Given the description of an element on the screen output the (x, y) to click on. 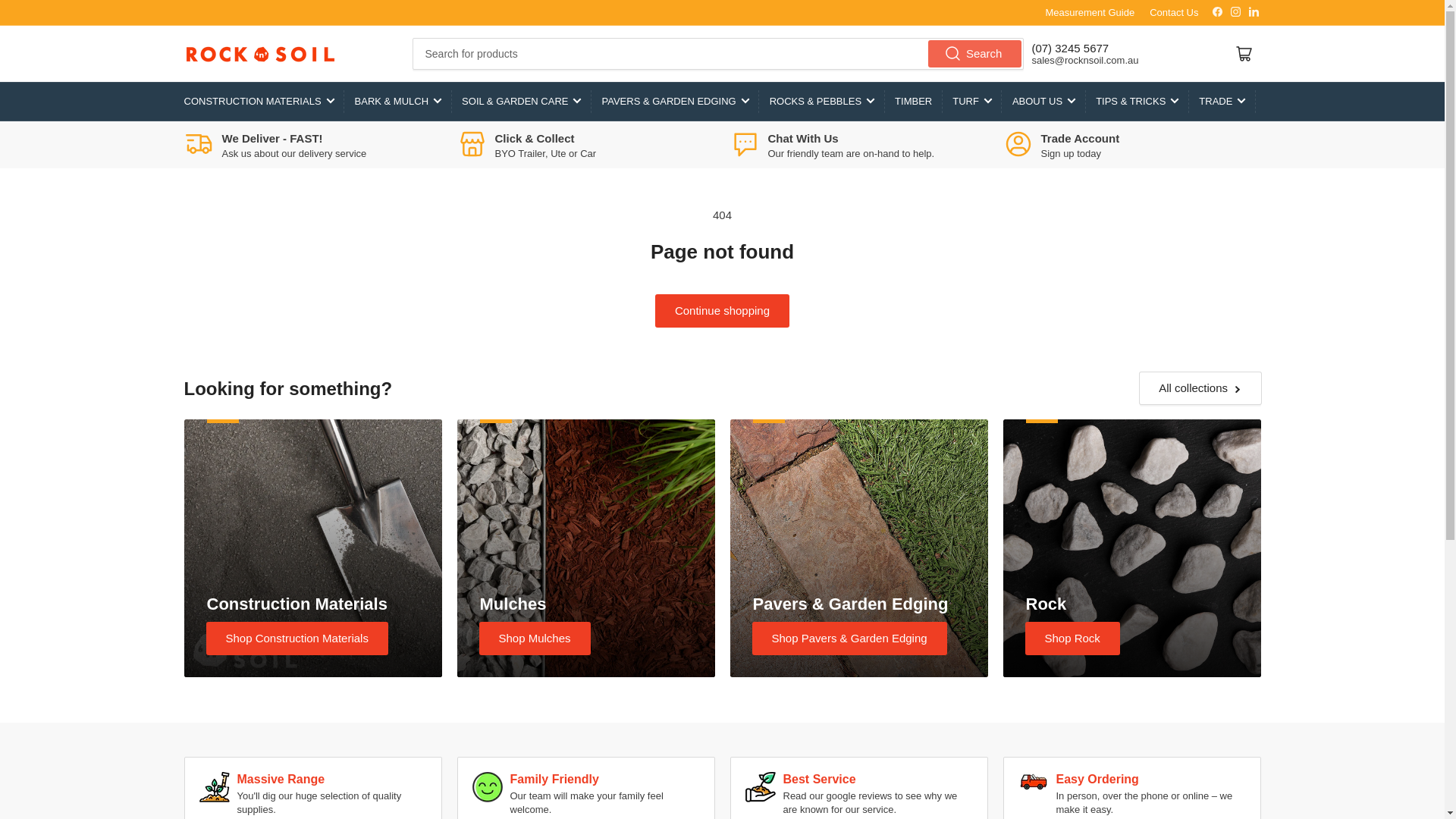
Facebook (1216, 11)
LinkedIn (1253, 11)
Instagram (1235, 11)
Search (975, 53)
Contact Us (1174, 12)
Open mini cart (1243, 52)
Measurement Guide (1089, 12)
